Given the description of an element on the screen output the (x, y) to click on. 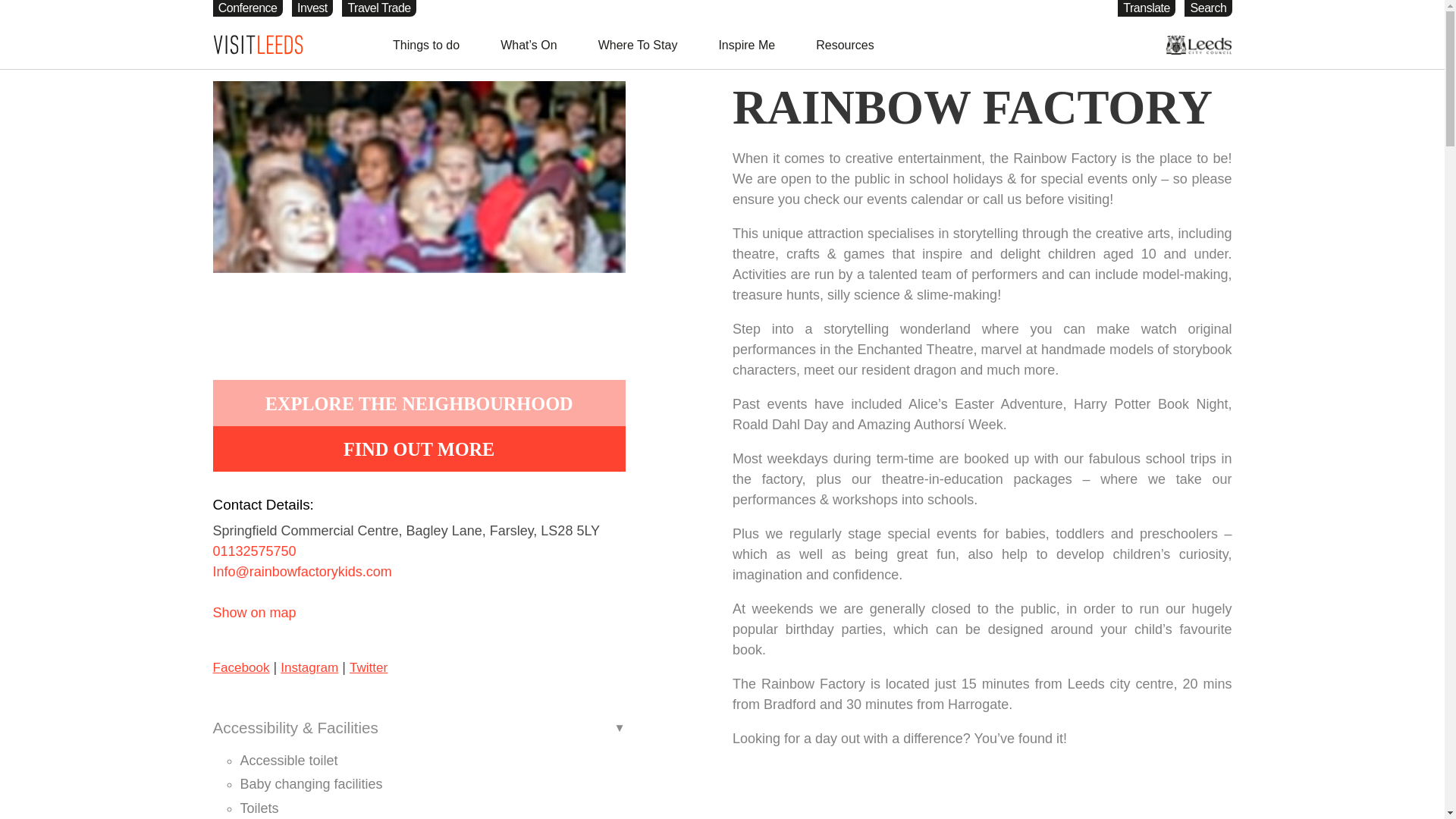
Things to do (425, 44)
Conference (247, 8)
Invest (312, 8)
Translate (1146, 8)
Inspire Me (746, 44)
Where To Stay (637, 44)
Search (1208, 8)
Visit Leeds Logo (257, 45)
Rainbow Factory (418, 218)
Travel Trade (379, 8)
